Given the description of an element on the screen output the (x, y) to click on. 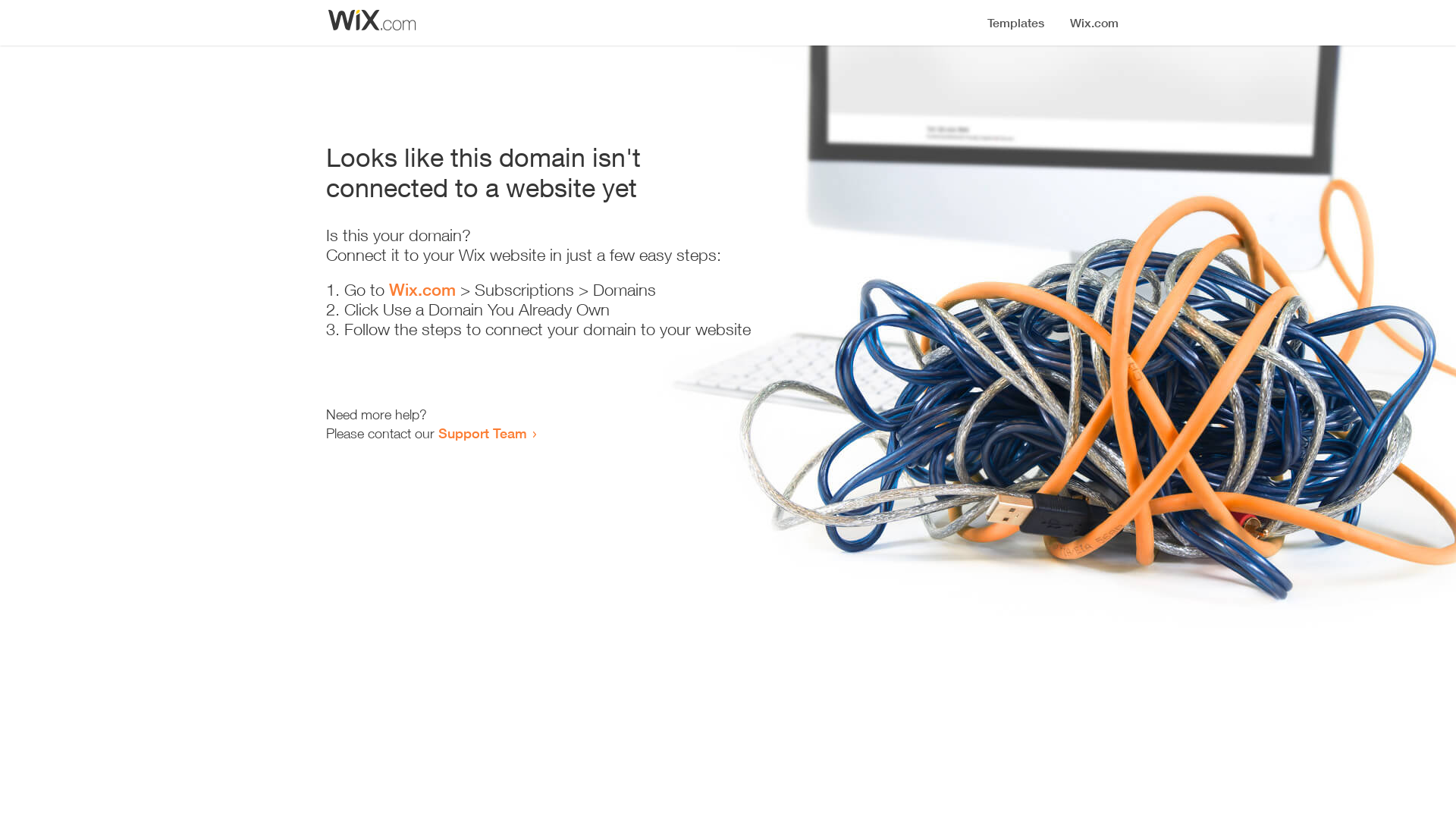
Wix.com Element type: text (422, 289)
Support Team Element type: text (482, 432)
